Given the description of an element on the screen output the (x, y) to click on. 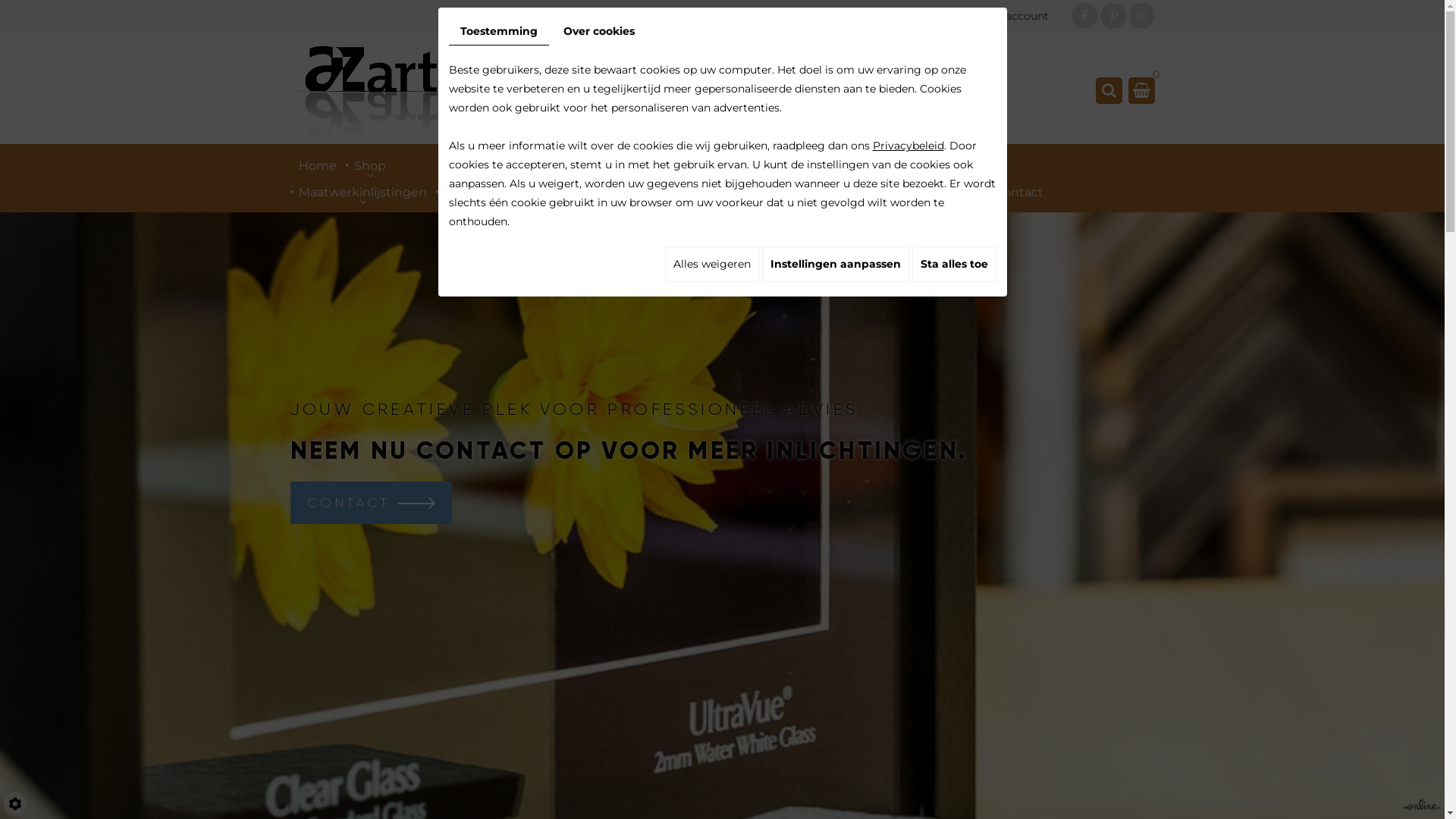
Maatwerkinlijstingen Element type: text (362, 189)
instagram Element type: hover (1141, 15)
Restauraties Element type: text (810, 189)
Alles weigeren Element type: text (711, 264)
Instellingen aanpassen Element type: text (834, 264)
mijn account Element type: text (1002, 15)
Cookie-instelling bewerken Element type: text (14, 803)
Toestemming Element type: text (498, 31)
Standaardlijsten Element type: text (493, 189)
Shop Element type: text (370, 162)
pinterest Element type: hover (1112, 15)
Facebook Element type: hover (1083, 15)
Privacybeleid Element type: text (907, 145)
Sta alles toe Element type: text (953, 264)
Home Element type: text (317, 162)
Over cookies Element type: text (599, 31)
Ophangsystemen Element type: text (920, 189)
Contact Element type: text (1018, 189)
A-Z Art Element type: hover (375, 90)
CONTACT Element type: text (370, 502)
